Given the description of an element on the screen output the (x, y) to click on. 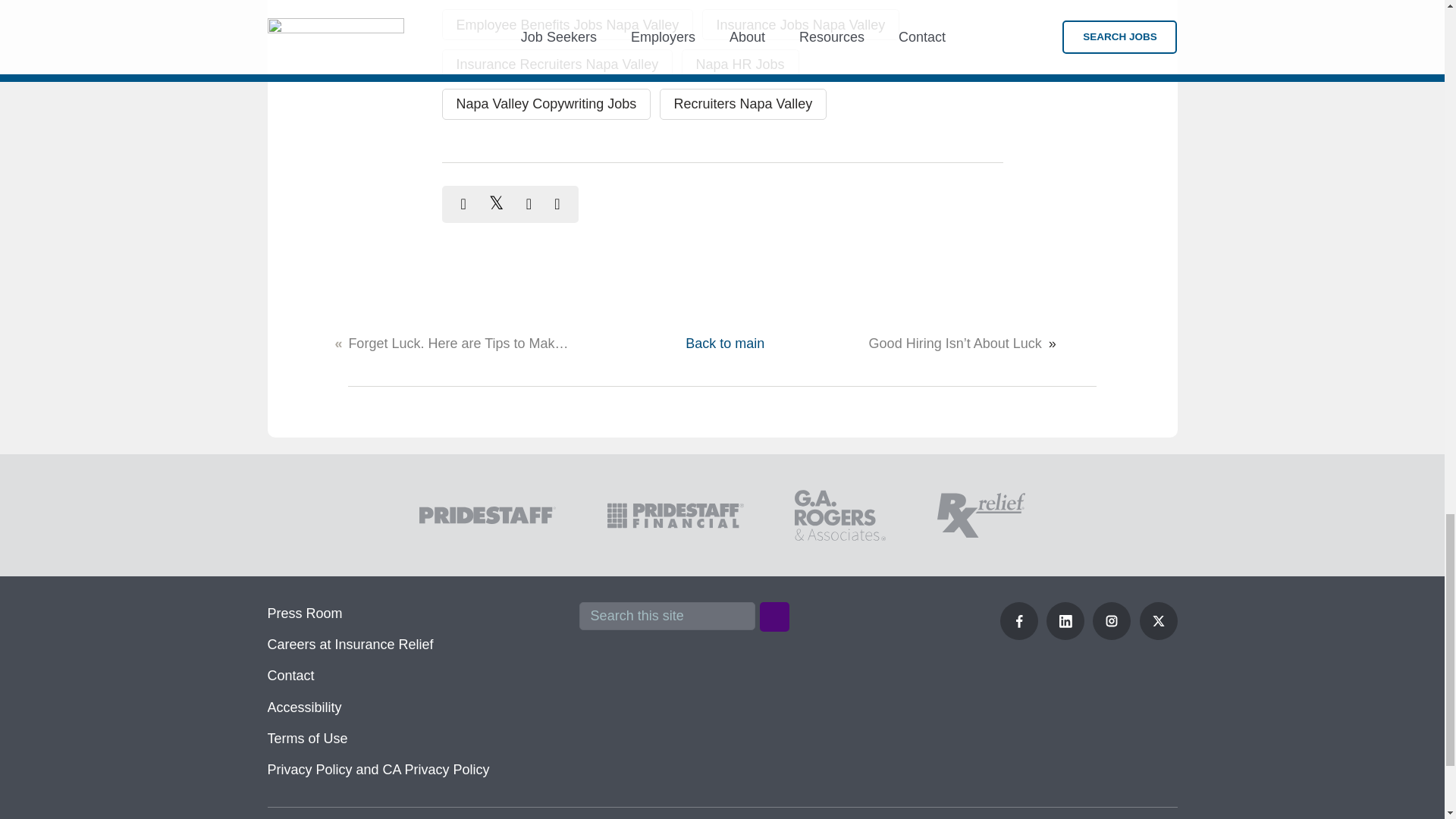
Napa HR Jobs (740, 64)
Recruiters Napa Valley (743, 103)
Napa Valley Copywriting Jobs (545, 103)
Employee Benefits Jobs Napa Valley (567, 24)
Insurance Jobs Napa Valley (800, 24)
Insurance Recruiters Napa Valley (556, 64)
